Given the description of an element on the screen output the (x, y) to click on. 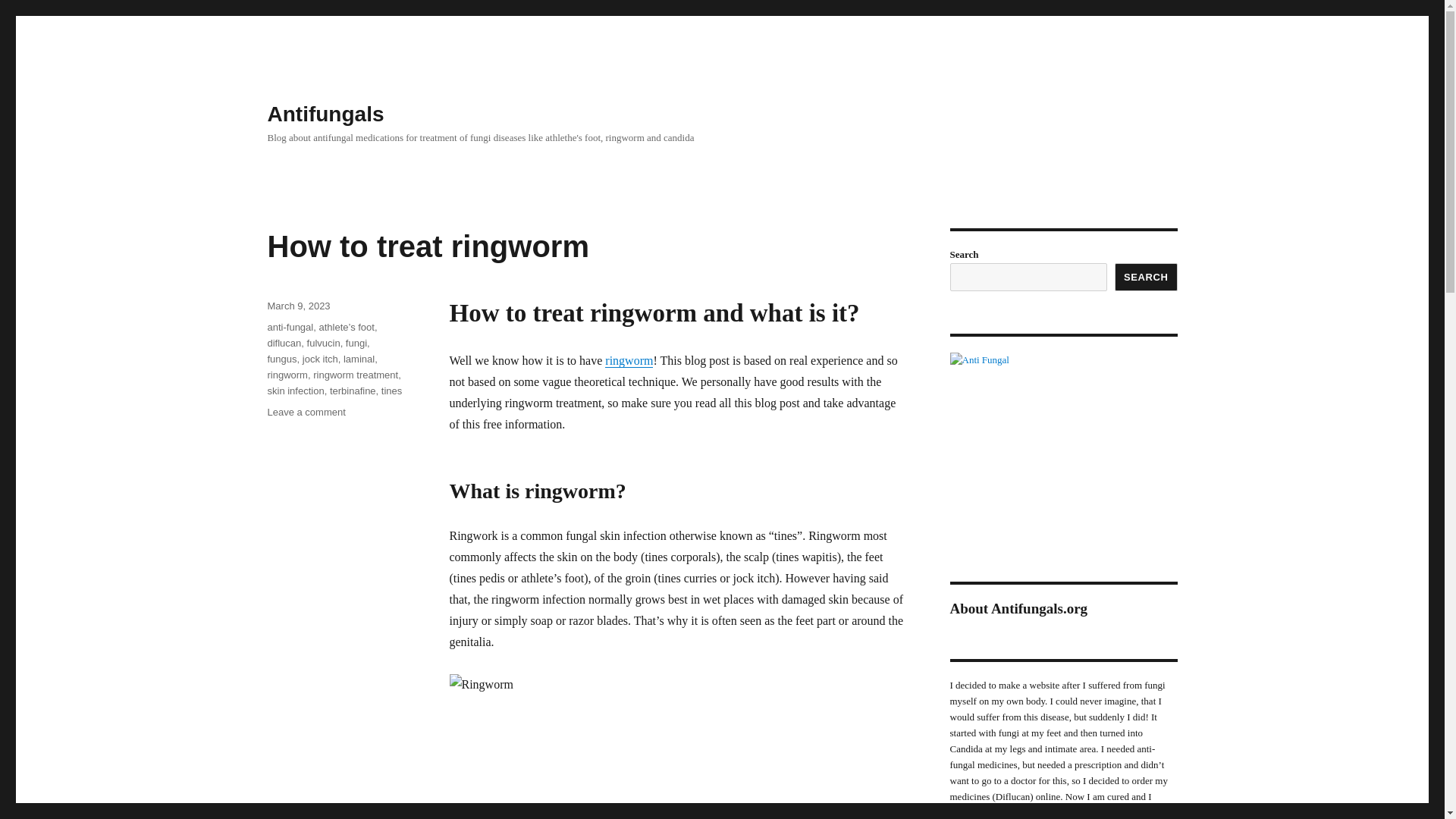
tines (391, 390)
skin infection (305, 411)
laminal (294, 390)
jock itch (358, 358)
ringworm treatment (319, 358)
How to treat ringworm (355, 374)
ringworm (427, 246)
March 9, 2023 (286, 374)
fungi (298, 306)
